Given the description of an element on the screen output the (x, y) to click on. 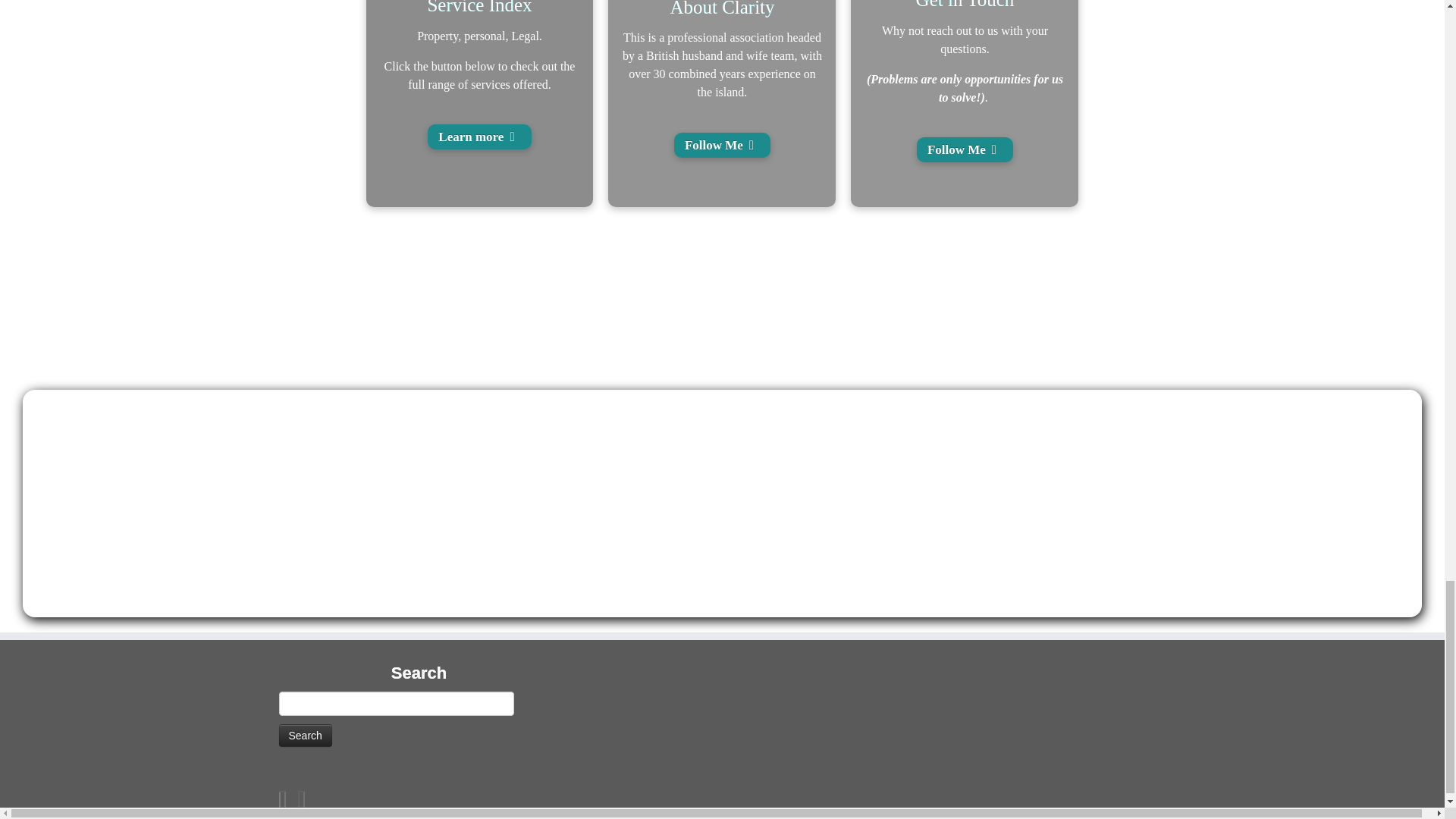
Follow Me (965, 149)
Search (305, 734)
Follow Me (722, 145)
Terms of Service and Private Policy (656, 794)
Learn more (479, 136)
Search (305, 734)
